Given the description of an element on the screen output the (x, y) to click on. 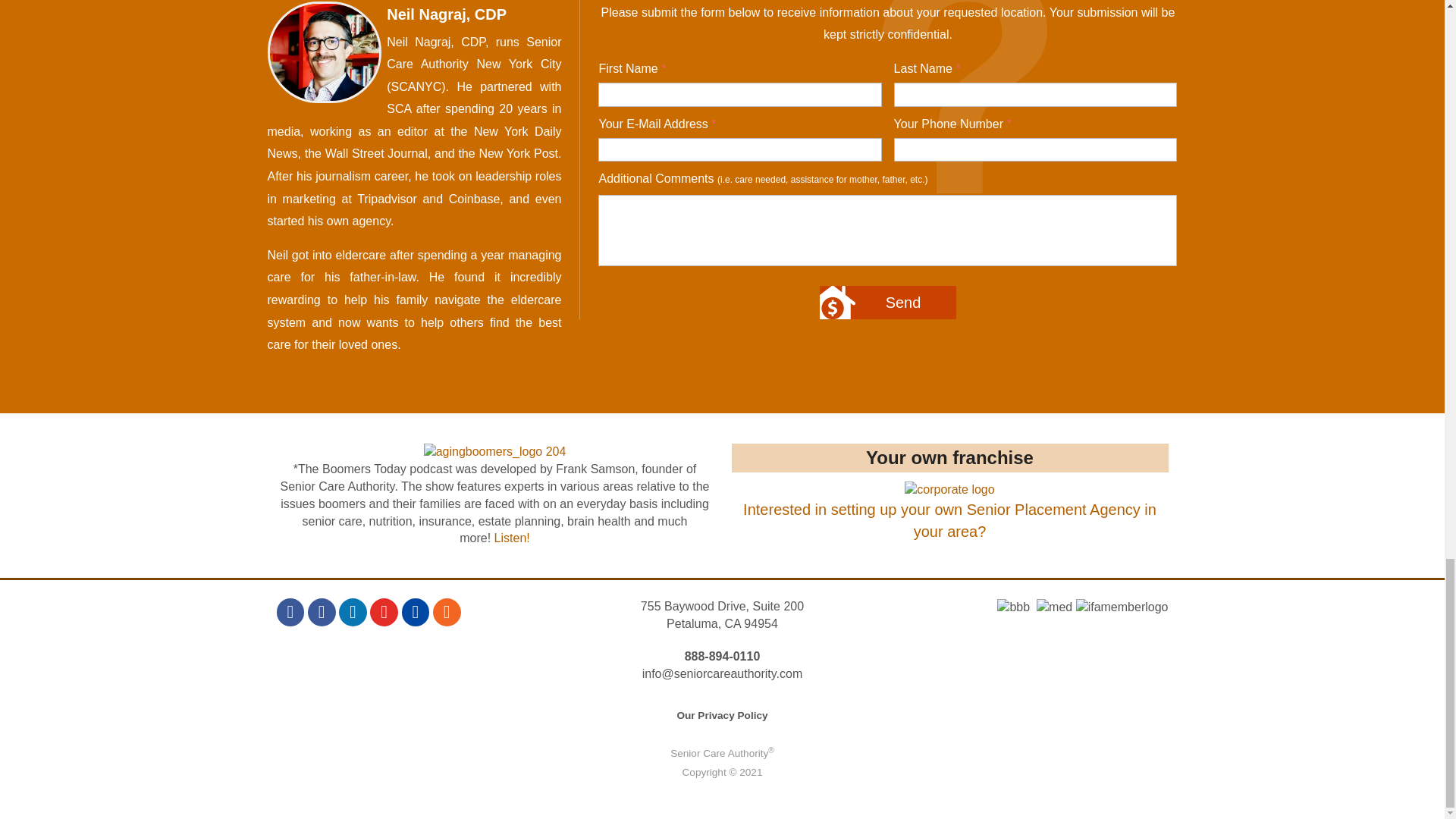
The Aging Boomers Podcasts (494, 451)
The Aging Boomers Podcasts (512, 537)
success (949, 510)
Send (887, 302)
